Given the description of an element on the screen output the (x, y) to click on. 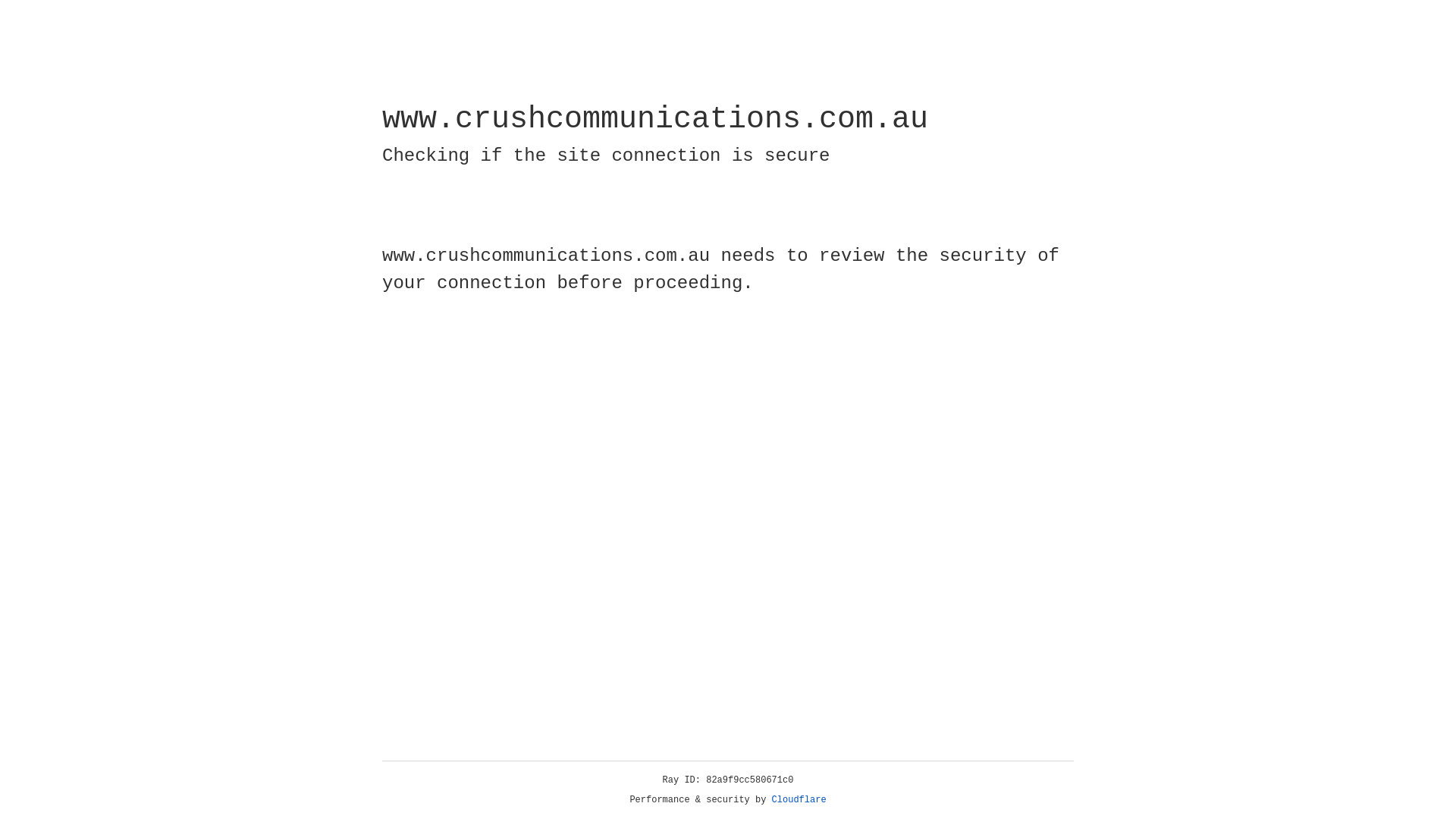
Cloudflare Element type: text (798, 799)
